Given the description of an element on the screen output the (x, y) to click on. 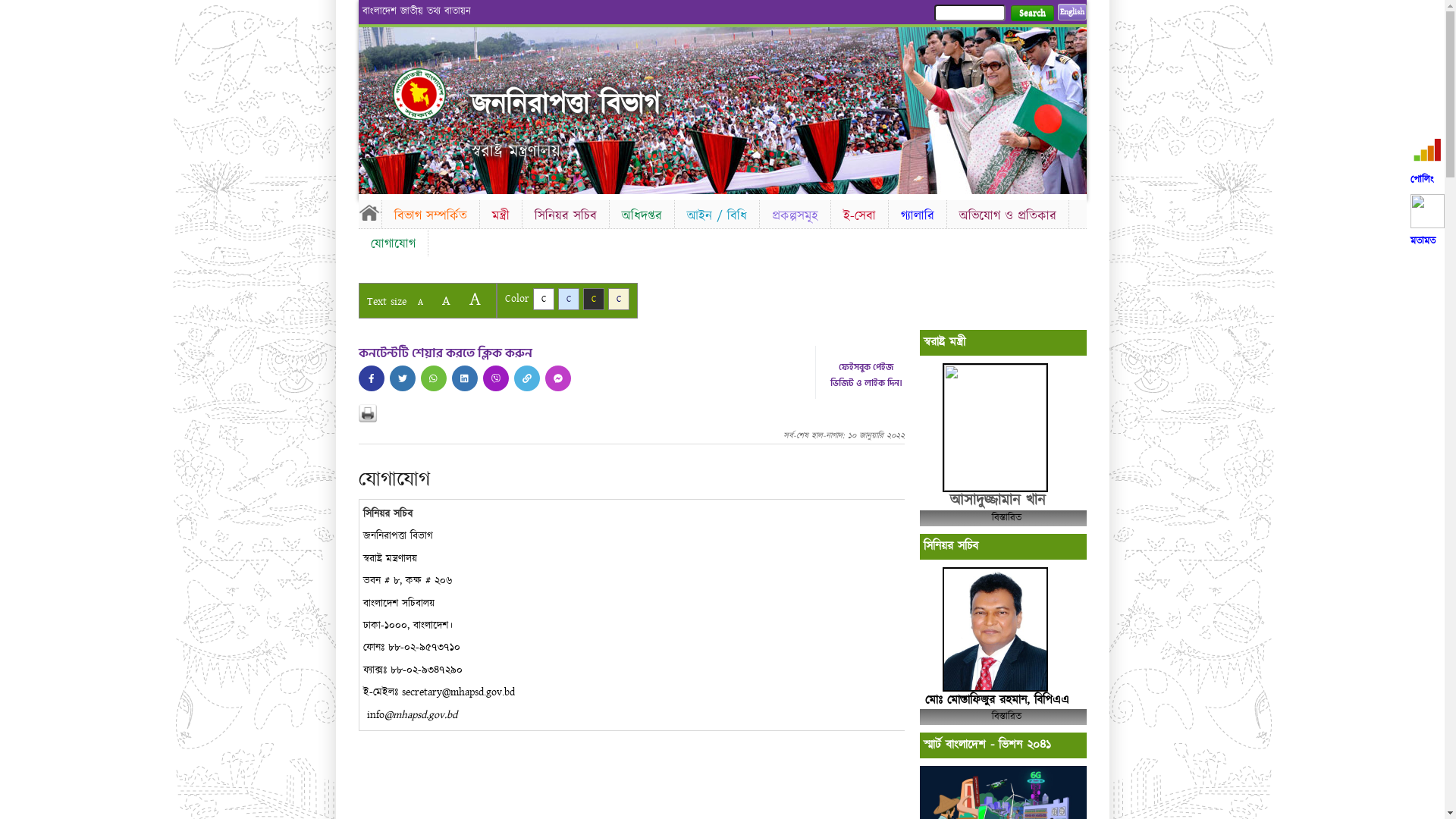
English Element type: text (1071, 11)
Search Element type: text (1031, 13)
A Element type: text (474, 298)
Home Element type: hover (431, 93)
A Element type: text (445, 300)
C Element type: text (592, 299)
C Element type: text (542, 299)
C Element type: text (568, 299)
A Element type: text (419, 301)
C Element type: text (618, 299)
Home Element type: hover (368, 211)
